Given the description of an element on the screen output the (x, y) to click on. 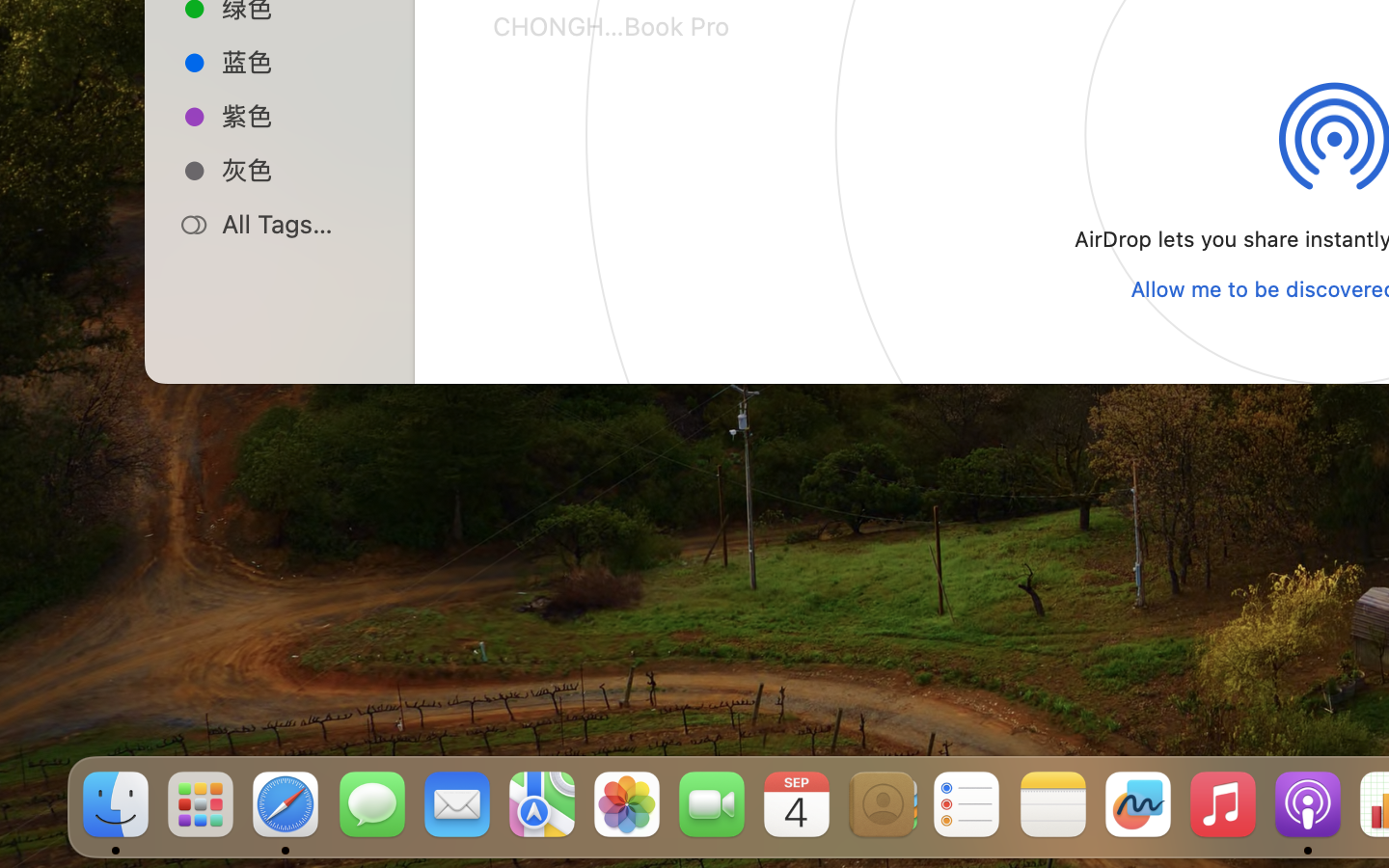
蓝色 Element type: AXStaticText (299, 61)
All Tags… Element type: AXStaticText (299, 223)
灰色 Element type: AXStaticText (299, 169)
紫色 Element type: AXStaticText (299, 115)
